Given the description of an element on the screen output the (x, y) to click on. 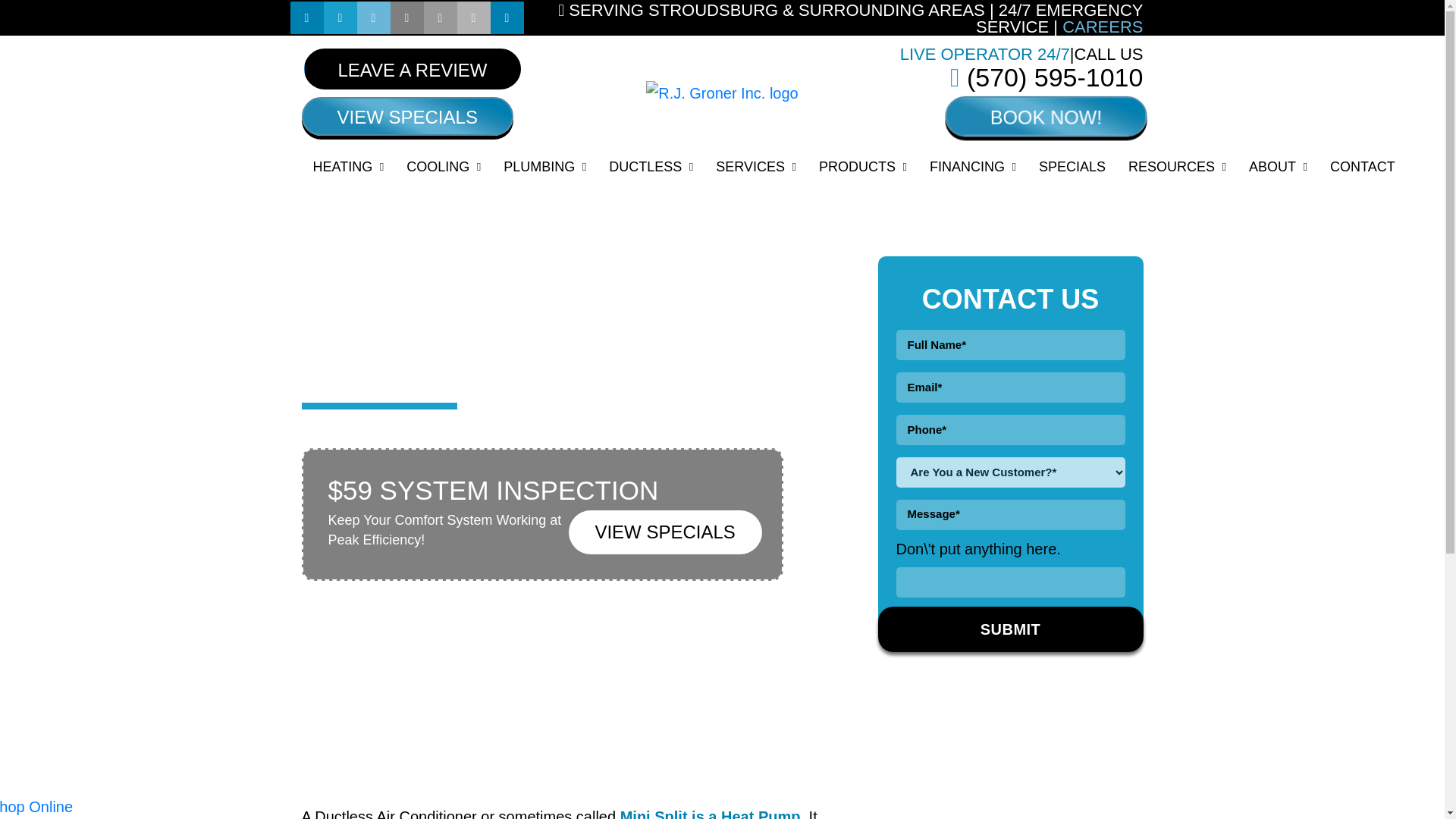
CAREERS (1102, 26)
Submit (1009, 628)
BOOK NOW! (1041, 115)
LEAVE A REVIEW (412, 68)
COOLING (443, 166)
PLUMBING (544, 166)
HEATING (348, 166)
VIEW SPECIALS (407, 116)
R.J. Groner Inc. (721, 92)
